Given the description of an element on the screen output the (x, y) to click on. 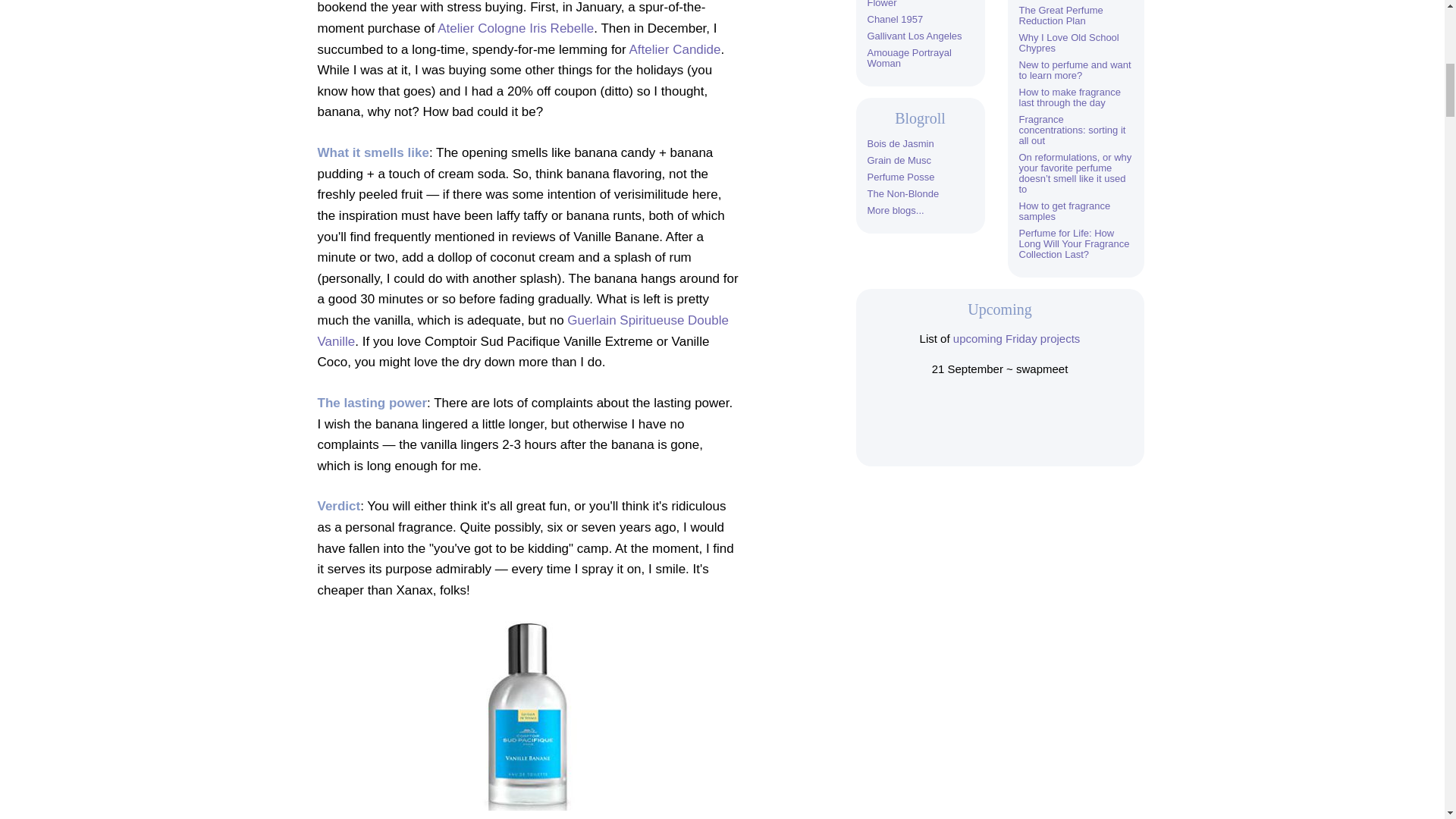
Atelier Cologne Iris Rebelle (516, 28)
Aftelier Candide (674, 49)
Guerlain Spiritueuse Double Vanille (522, 330)
